Given the description of an element on the screen output the (x, y) to click on. 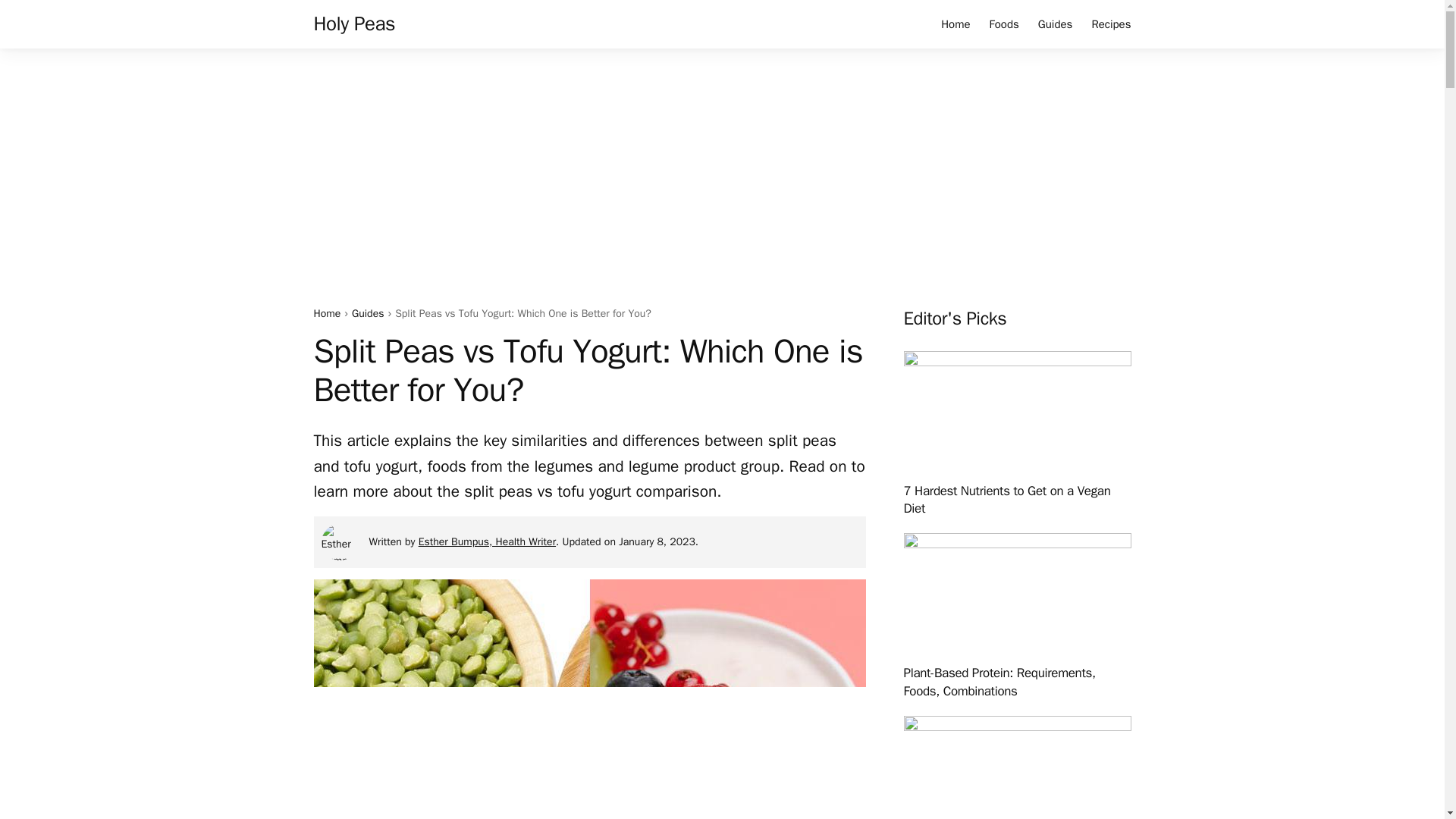
Holy Peas (355, 23)
Foods (1004, 24)
Esther Bumpus, Health Writer (487, 541)
Guides (368, 313)
Home (327, 313)
Home (954, 24)
Home (327, 313)
Guides (368, 313)
Guides (1055, 24)
Recipes (1110, 24)
